Given the description of an element on the screen output the (x, y) to click on. 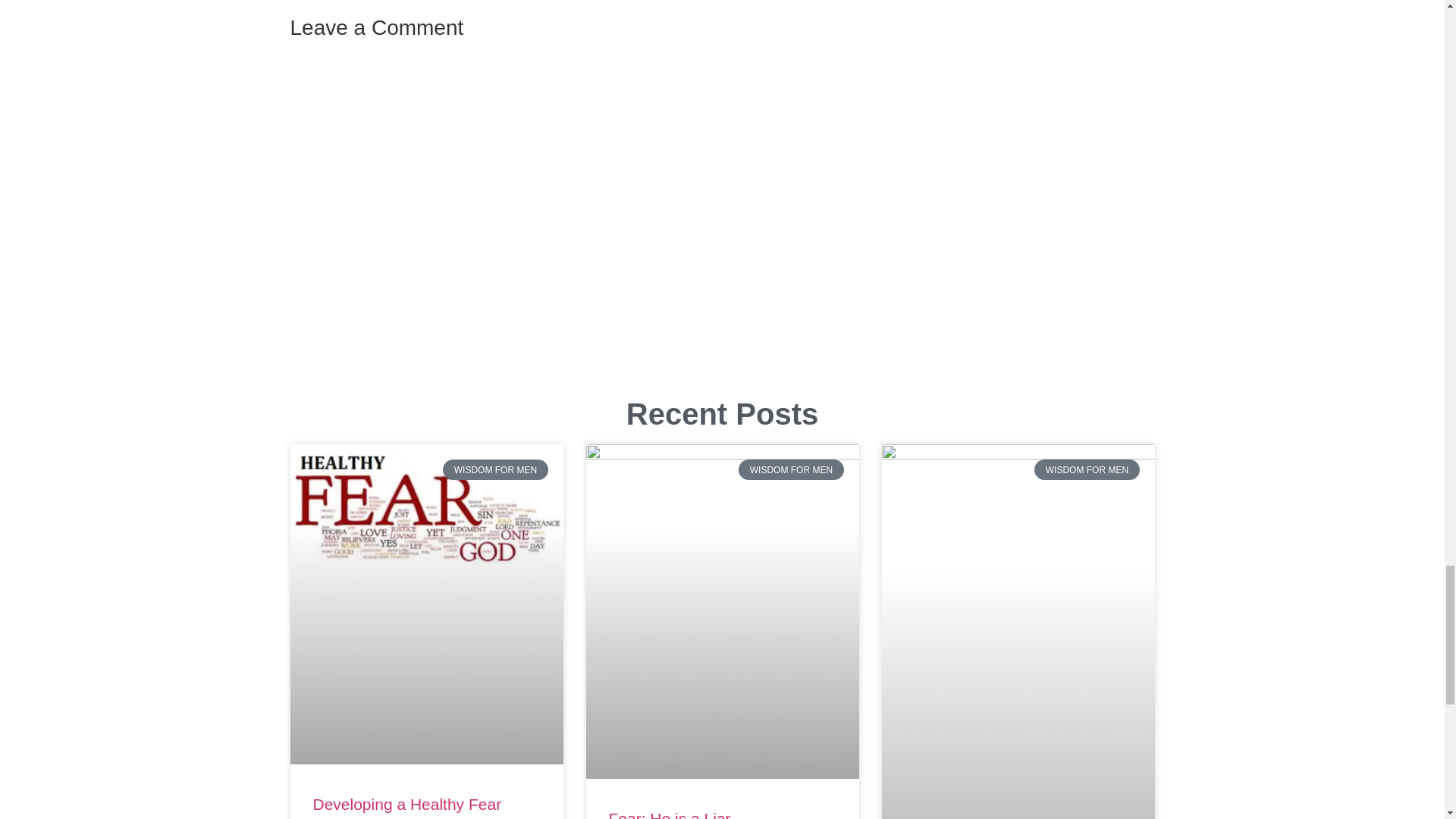
Developing a Healthy Fear (406, 804)
Fear: He is a Liar (669, 814)
